Given the description of an element on the screen output the (x, y) to click on. 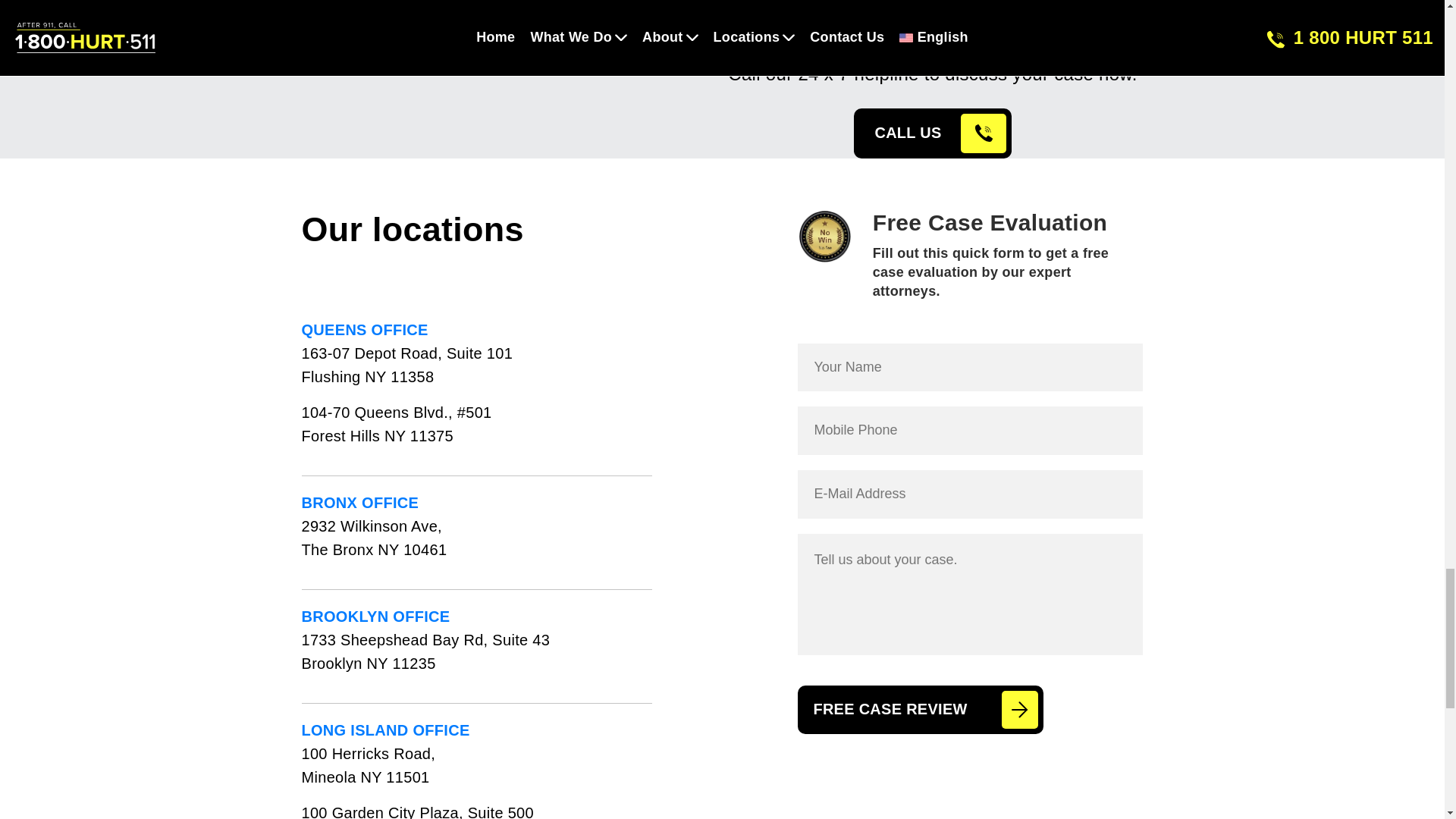
Free Case Review (919, 709)
